Given the description of an element on the screen output the (x, y) to click on. 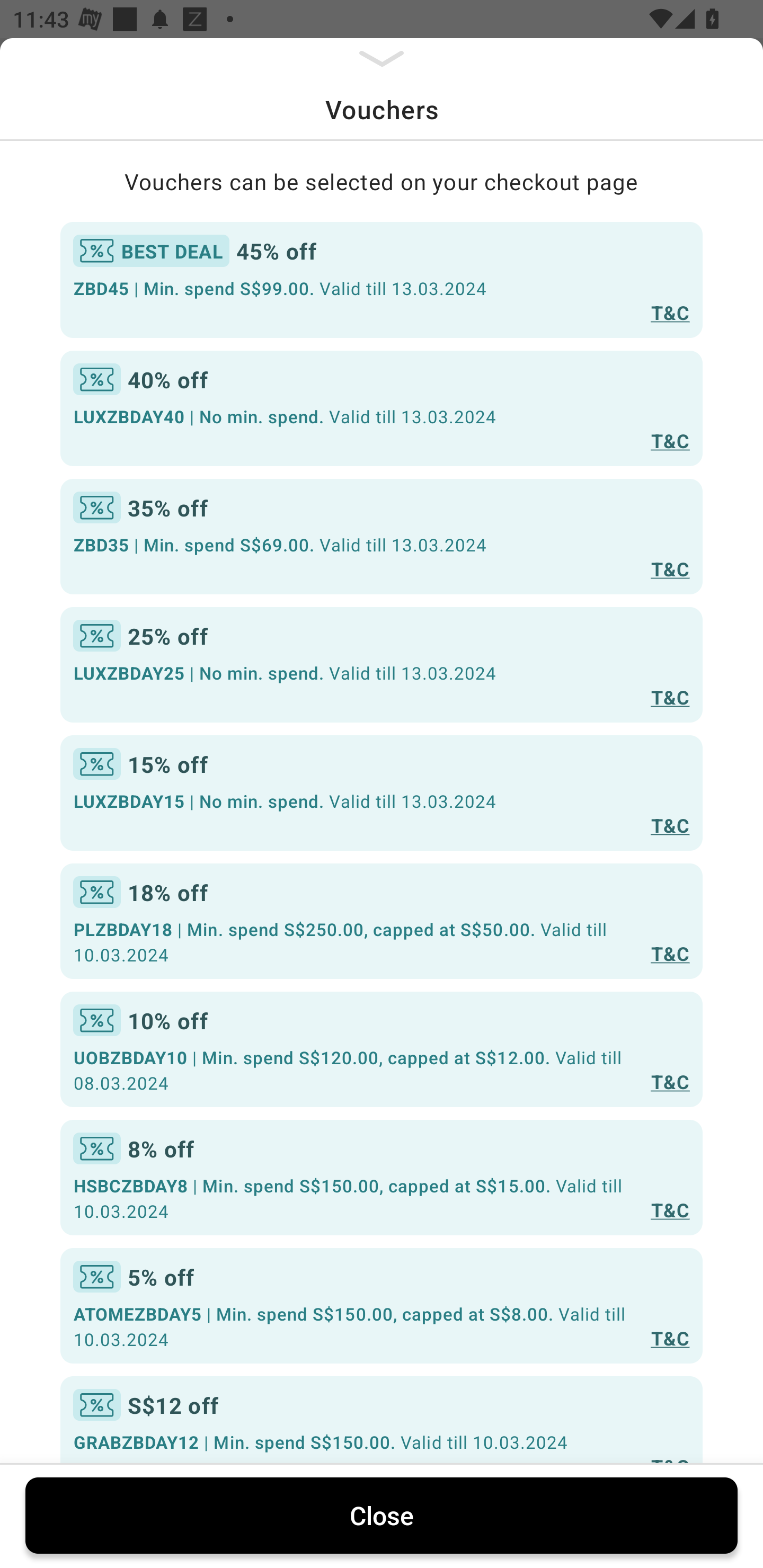
T&C (669, 311)
T&C (669, 440)
T&C (669, 568)
T&C (669, 696)
T&C (669, 824)
T&C (669, 952)
T&C (669, 1080)
T&C (669, 1209)
T&C (669, 1337)
Close (381, 1515)
